Given the description of an element on the screen output the (x, y) to click on. 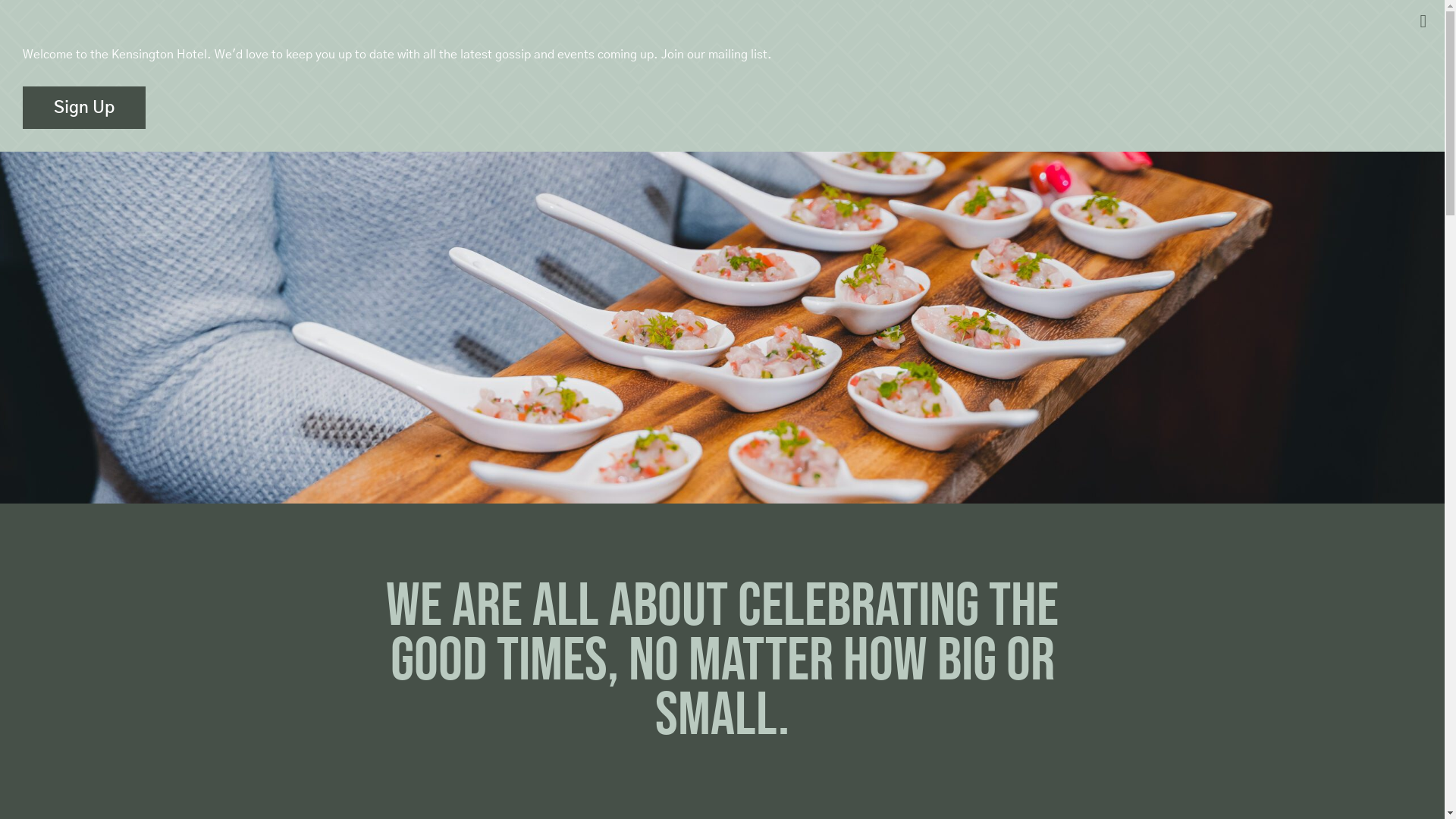
Book Element type: text (1345, 37)
MENU Element type: text (80, 37)
Sign Up Element type: text (83, 107)
